Given the description of an element on the screen output the (x, y) to click on. 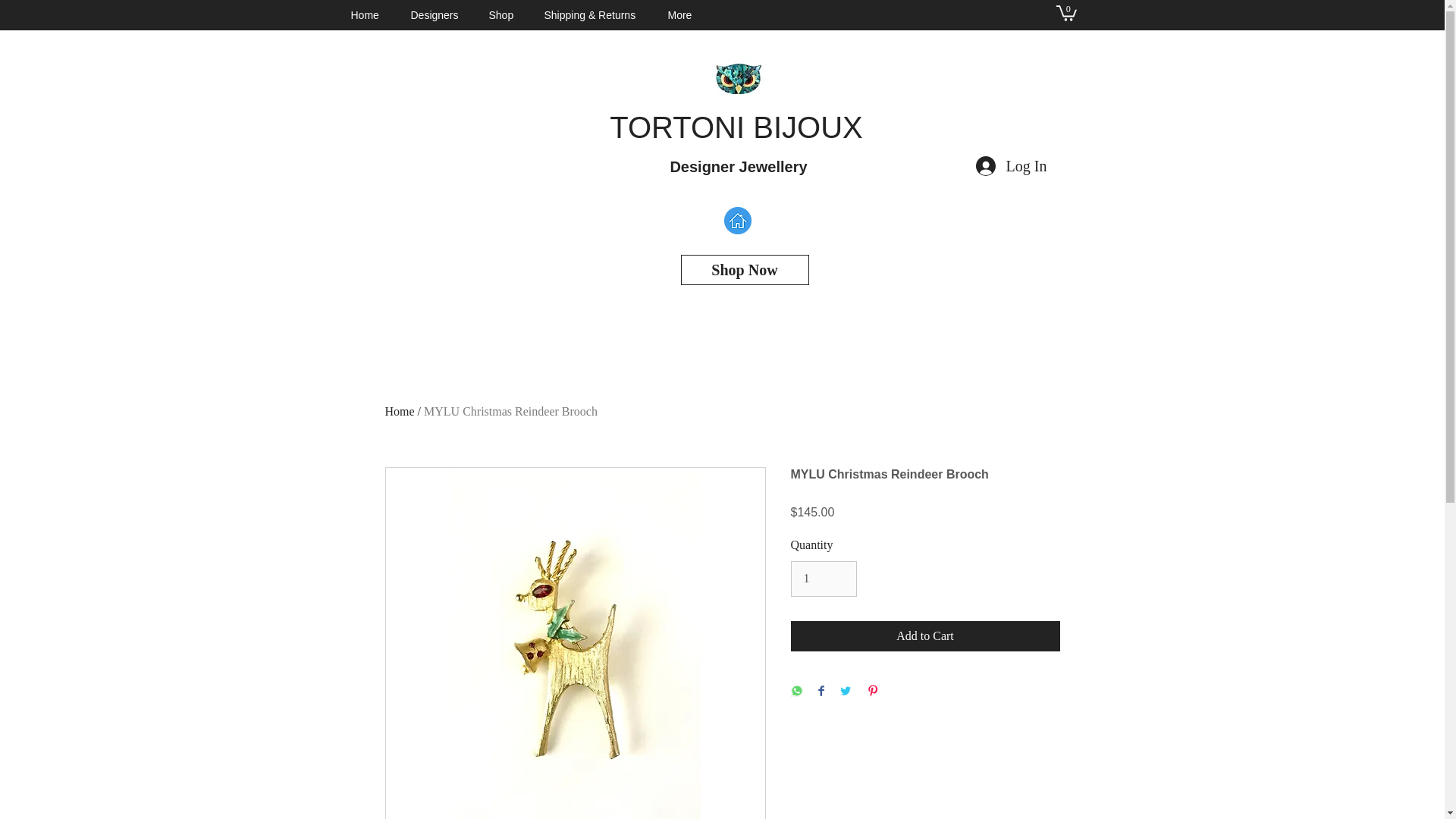
Shop (504, 15)
1 (823, 578)
Home (368, 15)
0 (1065, 12)
